Given the description of an element on the screen output the (x, y) to click on. 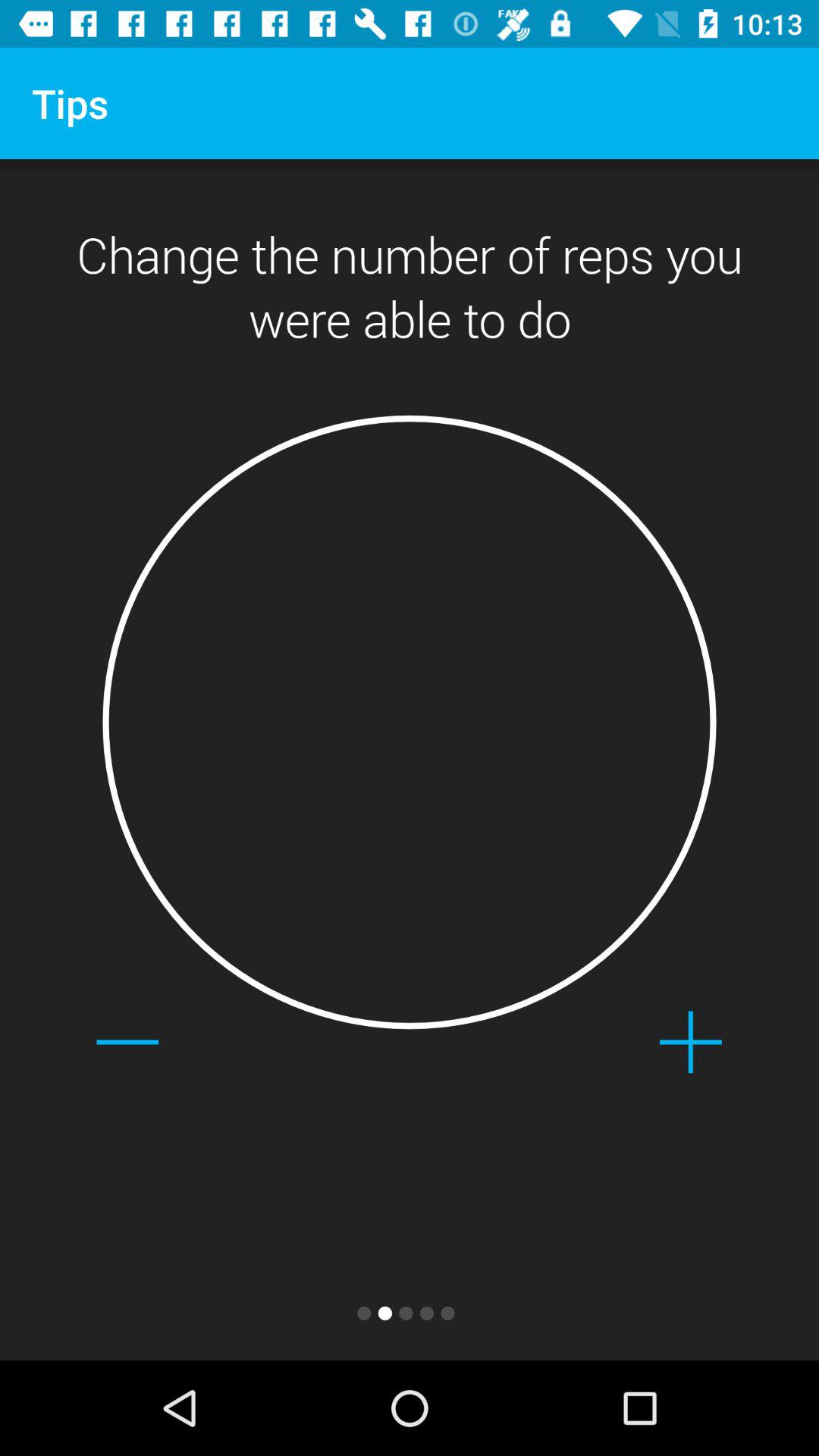
press icon below change the number (127, 1042)
